Given the description of an element on the screen output the (x, y) to click on. 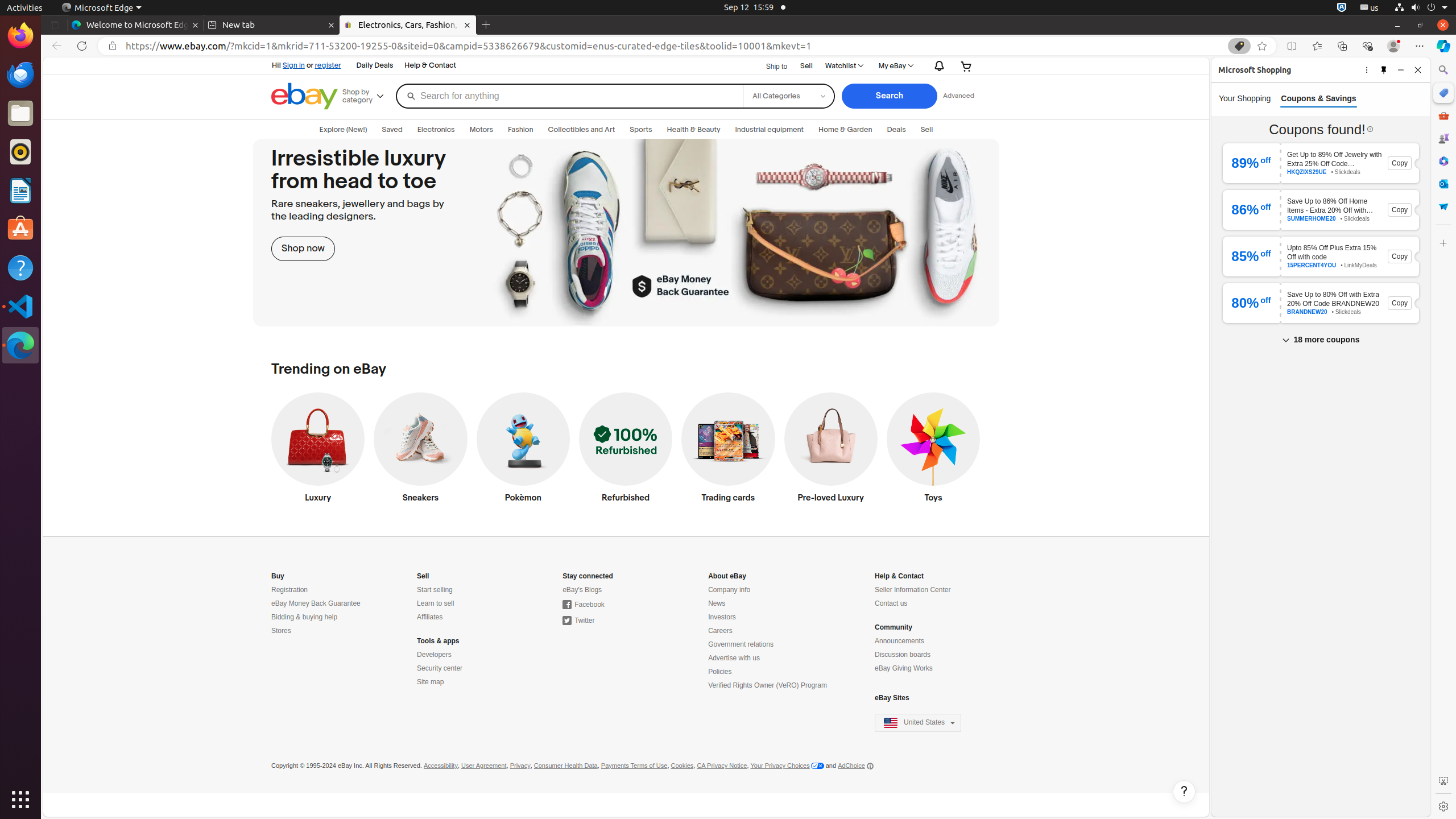
Refresh Element type: push-button (81, 45)
Customize Element type: push-button (1443, 243)
Company info Element type: link (729, 589)
Investors Element type: link (721, 617)
More info Element type: push-button (1369, 128)
